Given the description of an element on the screen output the (x, y) to click on. 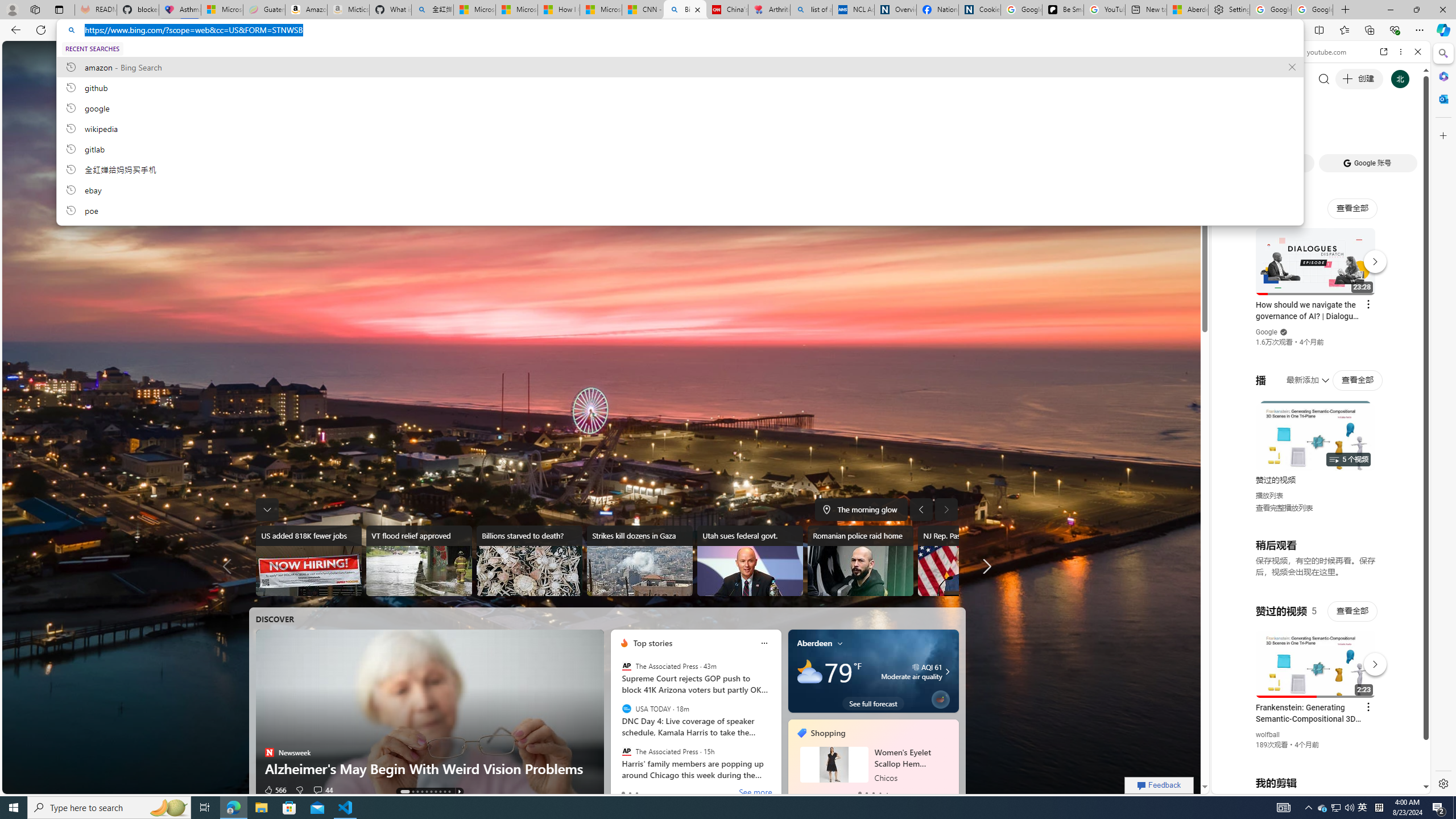
Search Filter, Search Tools (1350, 129)
Class: b_serphb (1404, 130)
youtube.com (1322, 51)
Preferences (1403, 129)
Images (319, 54)
previous (793, 760)
Be Smart | creating Science videos | Patreon (1062, 9)
Arthritis: Ask Health Professionals (769, 9)
Maps (455, 54)
Trailer #2 [HD] (1320, 336)
566 Like (275, 789)
